Given the description of an element on the screen output the (x, y) to click on. 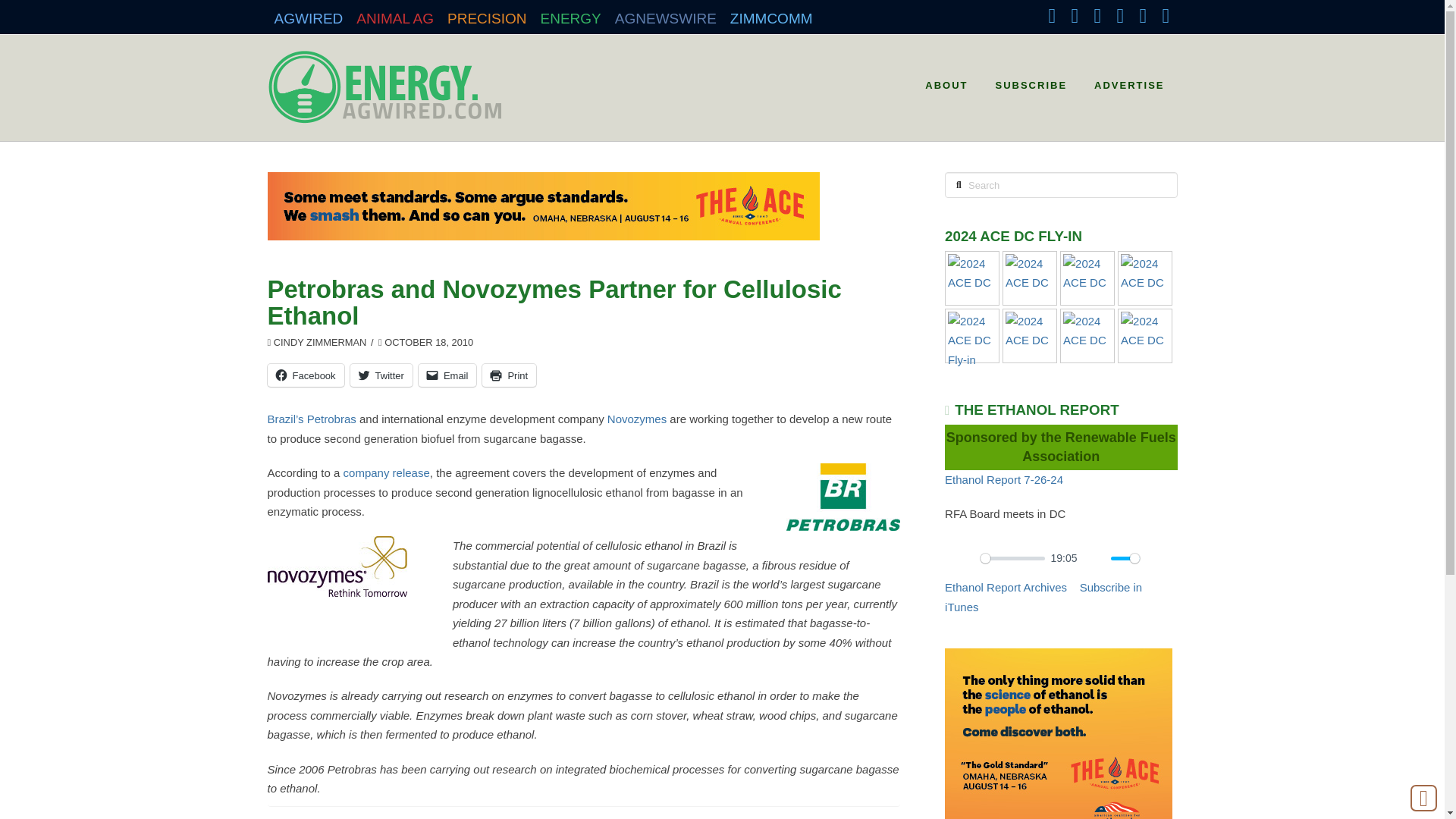
Email (448, 374)
Click to share on Twitter (381, 374)
ADVERTISE (1128, 80)
1 (1125, 558)
AGWIRED (307, 13)
Cellulosic (325, 818)
Click to print (508, 374)
AGNEWSWIRE (665, 13)
RSS (1165, 15)
Click to share on Facebook (304, 374)
ABOUT (945, 80)
Click to email a link to a friend (448, 374)
Facebook (1051, 15)
2024 ACE DC (971, 272)
Flickr (1142, 15)
